Given the description of an element on the screen output the (x, y) to click on. 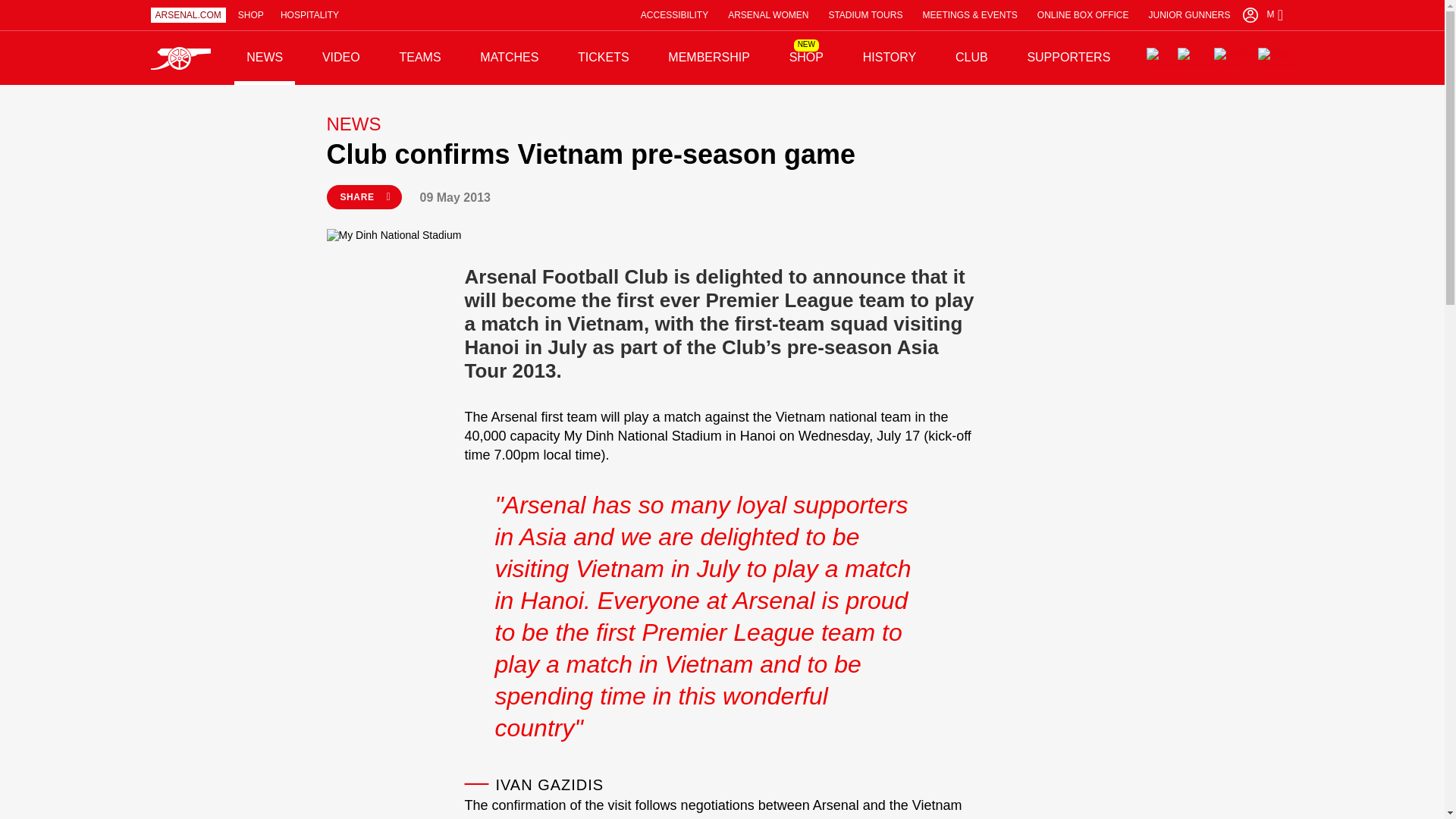
ONLINE BOX OFFICE (1083, 14)
ARSENAL WOMEN (767, 14)
STADIUM TOURS (865, 14)
CLUB (971, 57)
Club confirms Vietnam pre-season game (722, 154)
Display user account (1249, 15)
HOSPITALITY (309, 14)
HISTORY (889, 57)
ARSENAL.COM (187, 14)
SUPPORTERS (1068, 57)
